Given the description of an element on the screen output the (x, y) to click on. 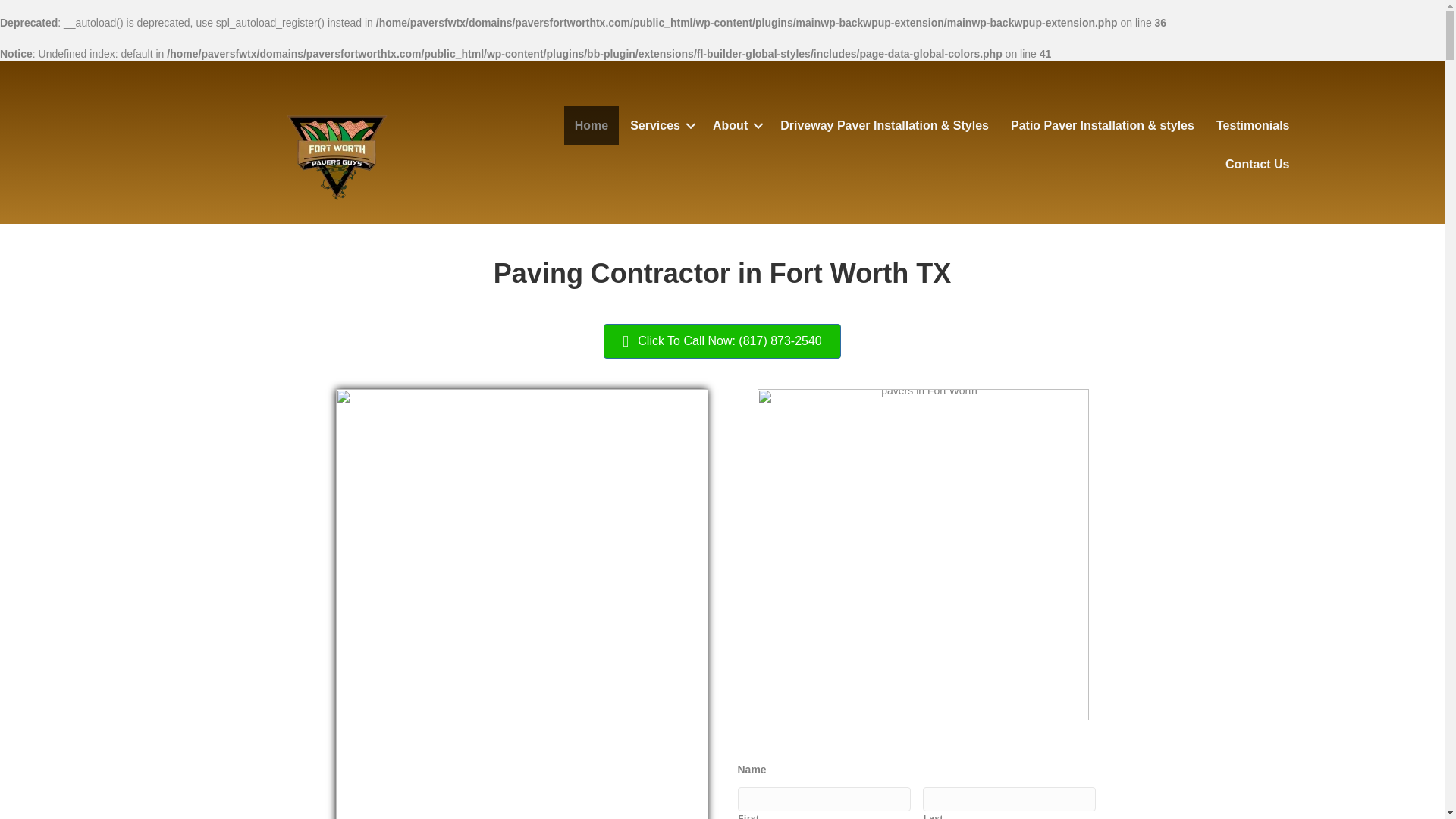
Testimonials (1252, 125)
Home (591, 125)
free quote for pavers installation in Fort Worth (923, 554)
Fort Worth Pavers Guys Logo (336, 144)
Services (660, 125)
Contact Us (1257, 163)
About (734, 125)
